Given the description of an element on the screen output the (x, y) to click on. 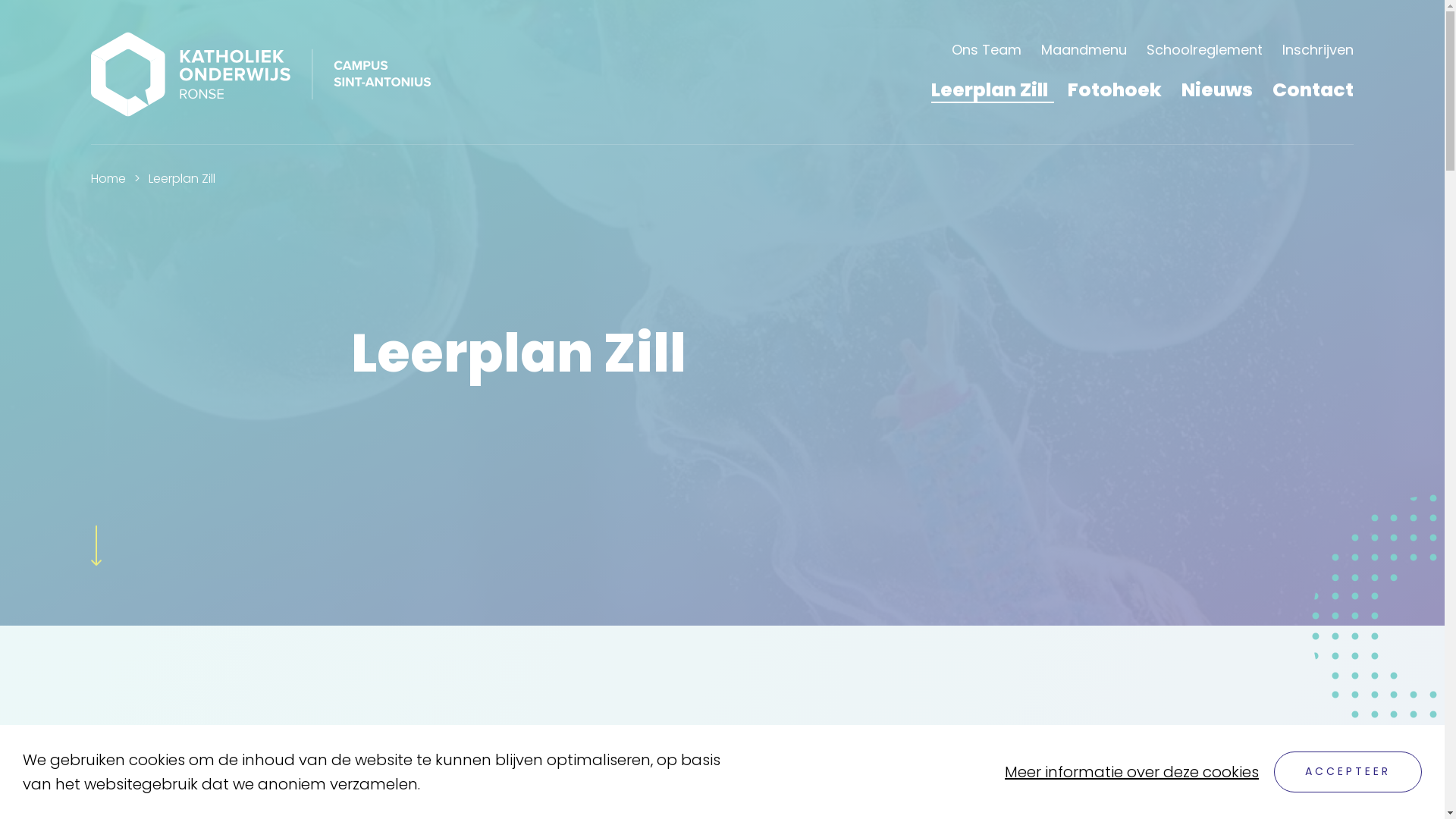
Fotohoek Element type: text (1114, 89)
Leerplan Zill Element type: text (989, 89)
Inschrijven Element type: text (1317, 49)
Maandmenu Element type: text (1083, 49)
Contact Element type: text (1312, 89)
Nieuws Element type: text (1216, 89)
Ons Team Element type: text (986, 49)
Home Element type: text (108, 178)
Schoolreglement Element type: text (1204, 49)
